Given the description of an element on the screen output the (x, y) to click on. 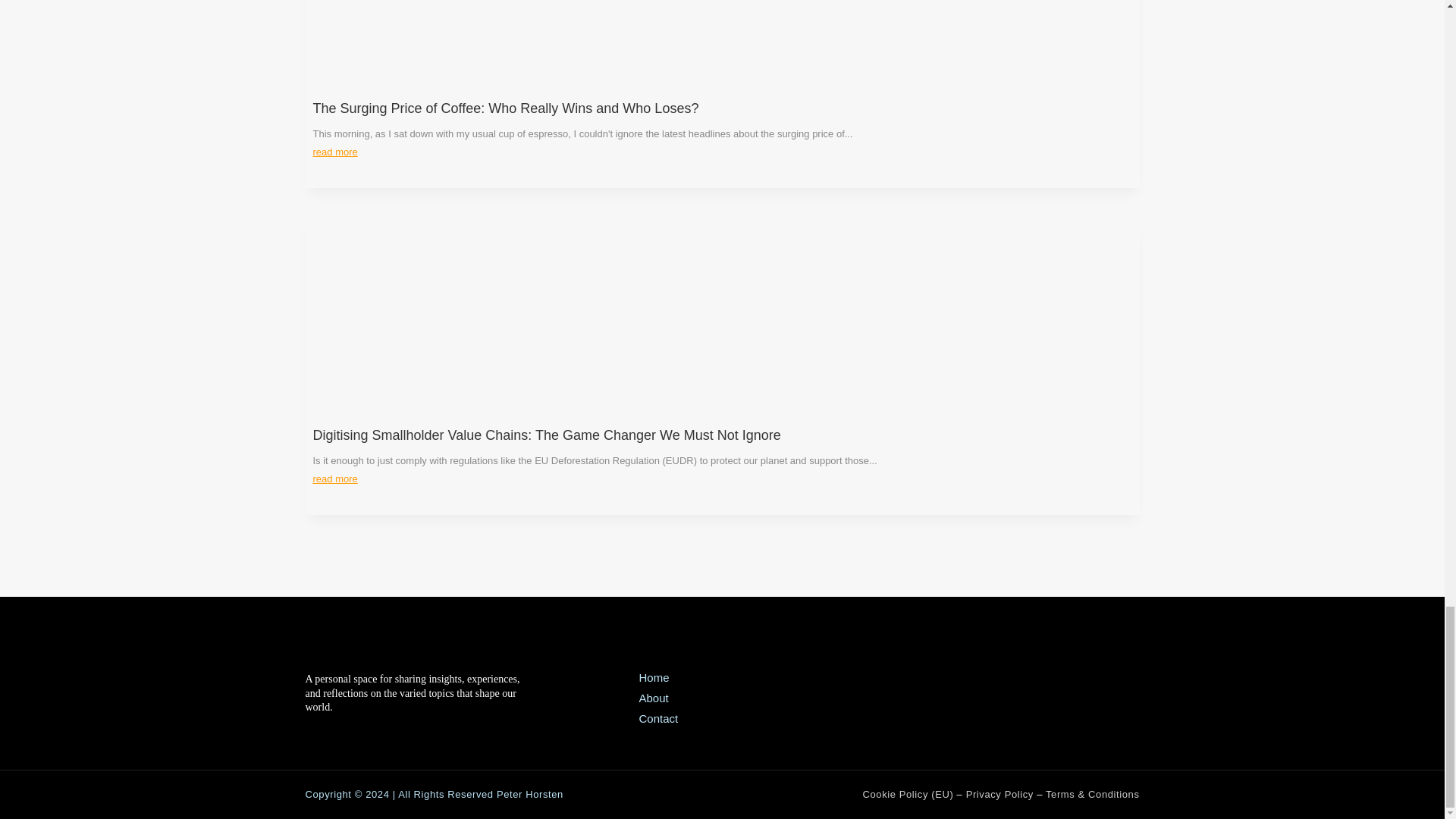
read more (334, 152)
Home - PetersOpinion.com (653, 676)
The Surging Price of Coffee: Who Really Wins and Who Loses? (505, 108)
petersopinion white orange transp 250px (373, 652)
